Given the description of an element on the screen output the (x, y) to click on. 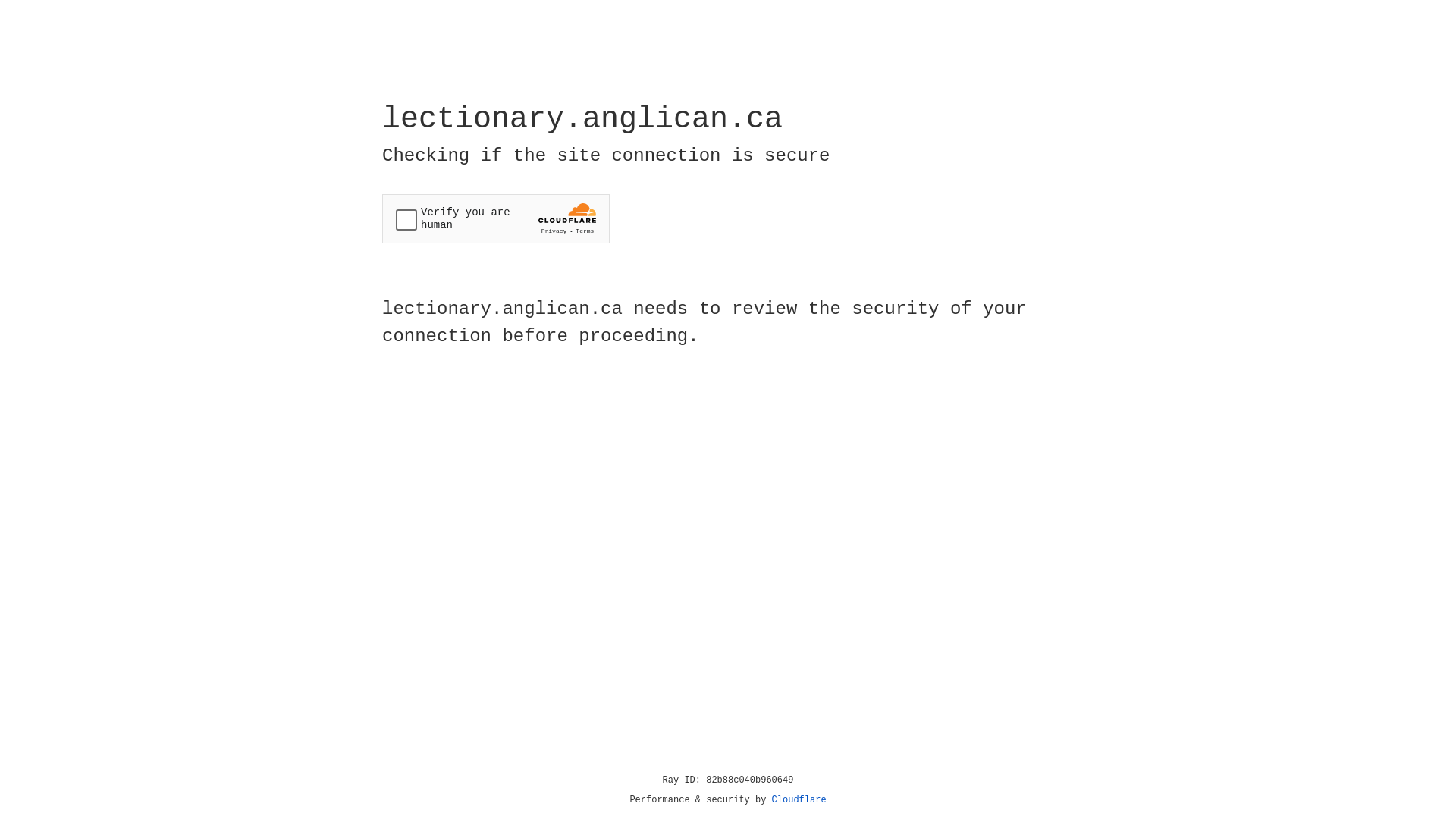
Cloudflare Element type: text (798, 799)
Widget containing a Cloudflare security challenge Element type: hover (495, 218)
